Given the description of an element on the screen output the (x, y) to click on. 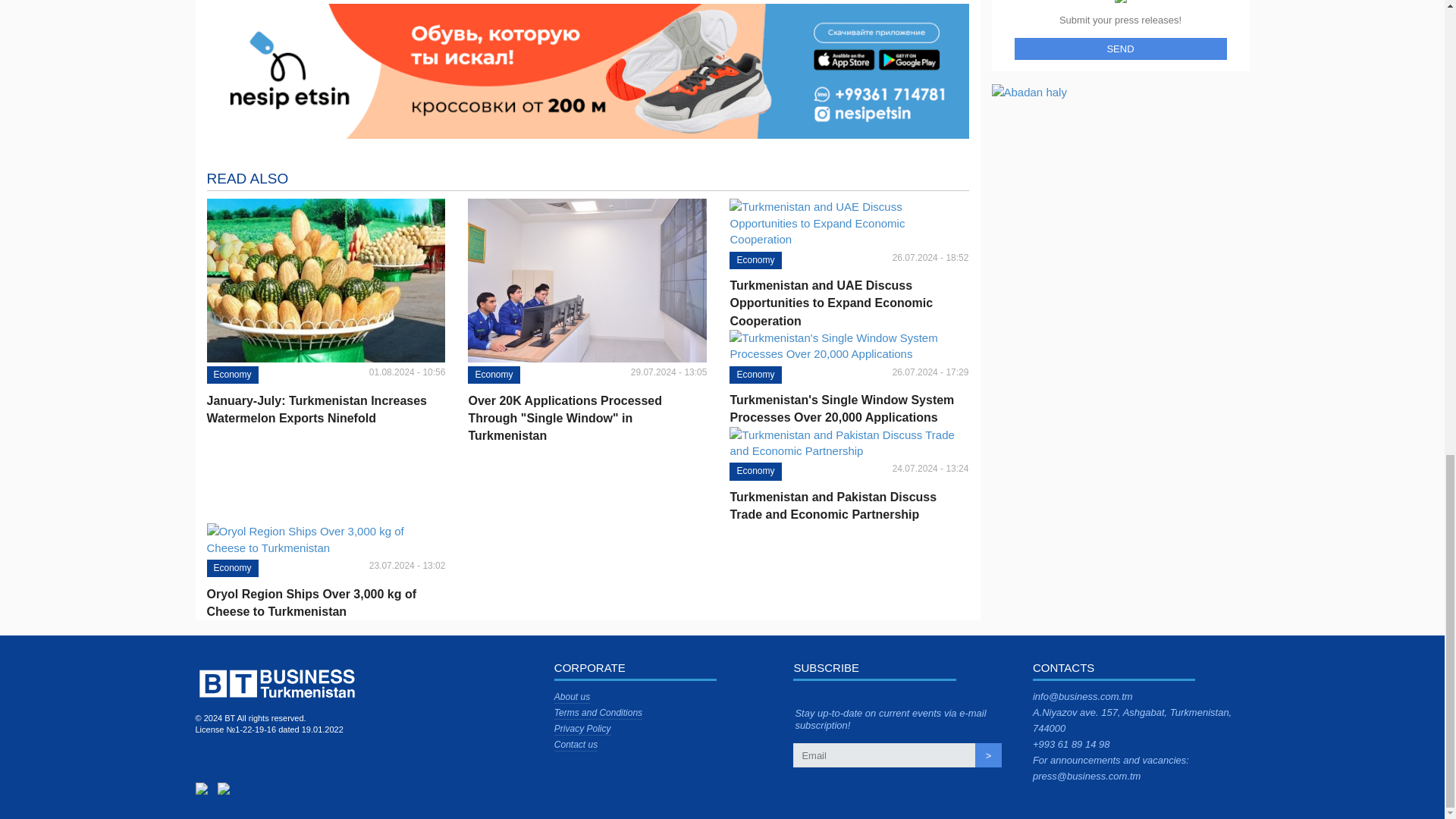
Economy (493, 375)
Oryol Region Ships Over 3,000 kg of Cheese to Turkmenistan (325, 602)
Economy (231, 375)
Economy (754, 375)
Economy (754, 470)
Economy (754, 260)
